Given the description of an element on the screen output the (x, y) to click on. 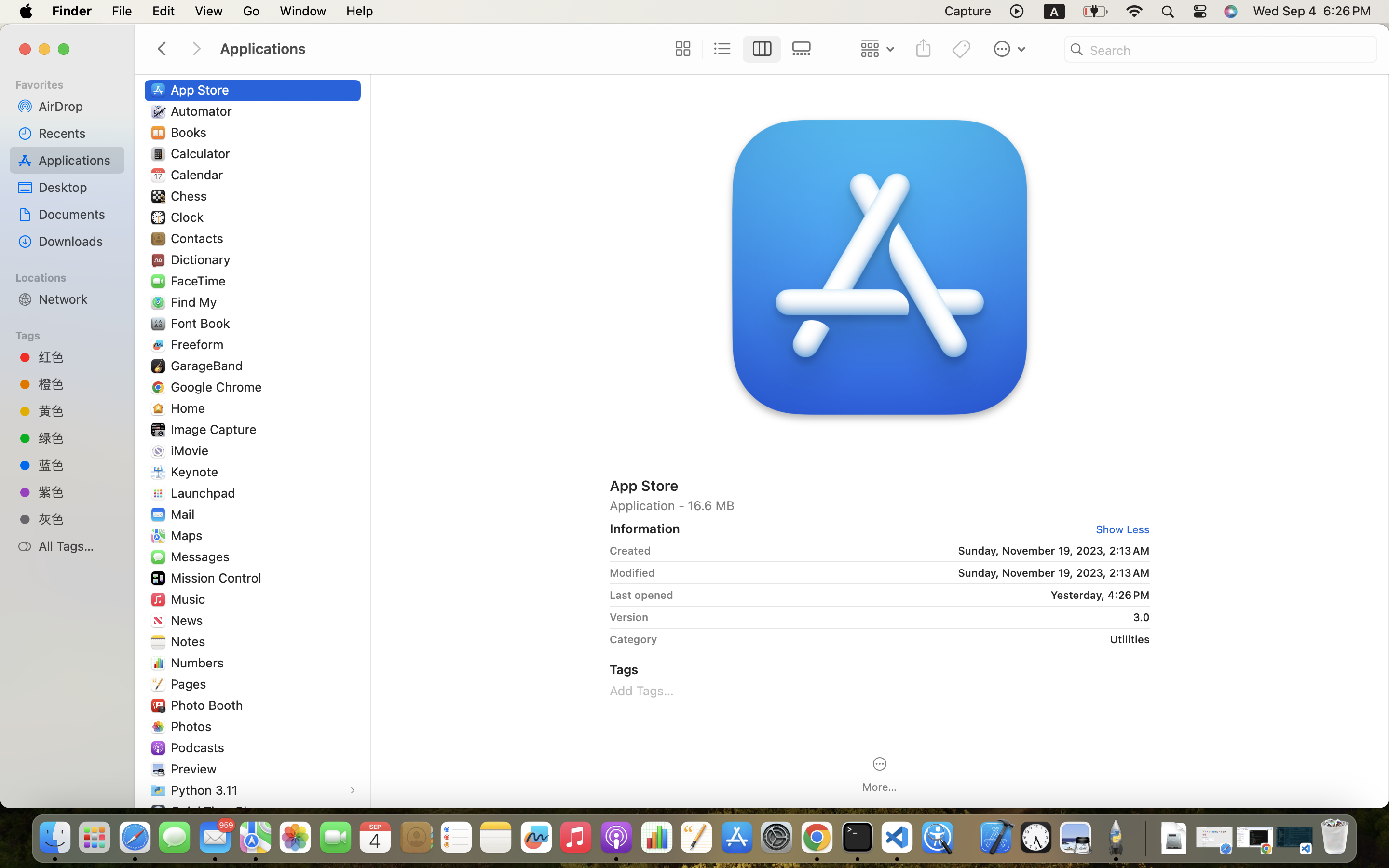
Documents Element type: AXStaticText (77, 213)
Image Capture Element type: AXTextField (215, 428)
Chess Element type: AXTextField (190, 195)
绿色 Element type: AXStaticText (77, 437)
Home Element type: AXTextField (189, 407)
